Given the description of an element on the screen output the (x, y) to click on. 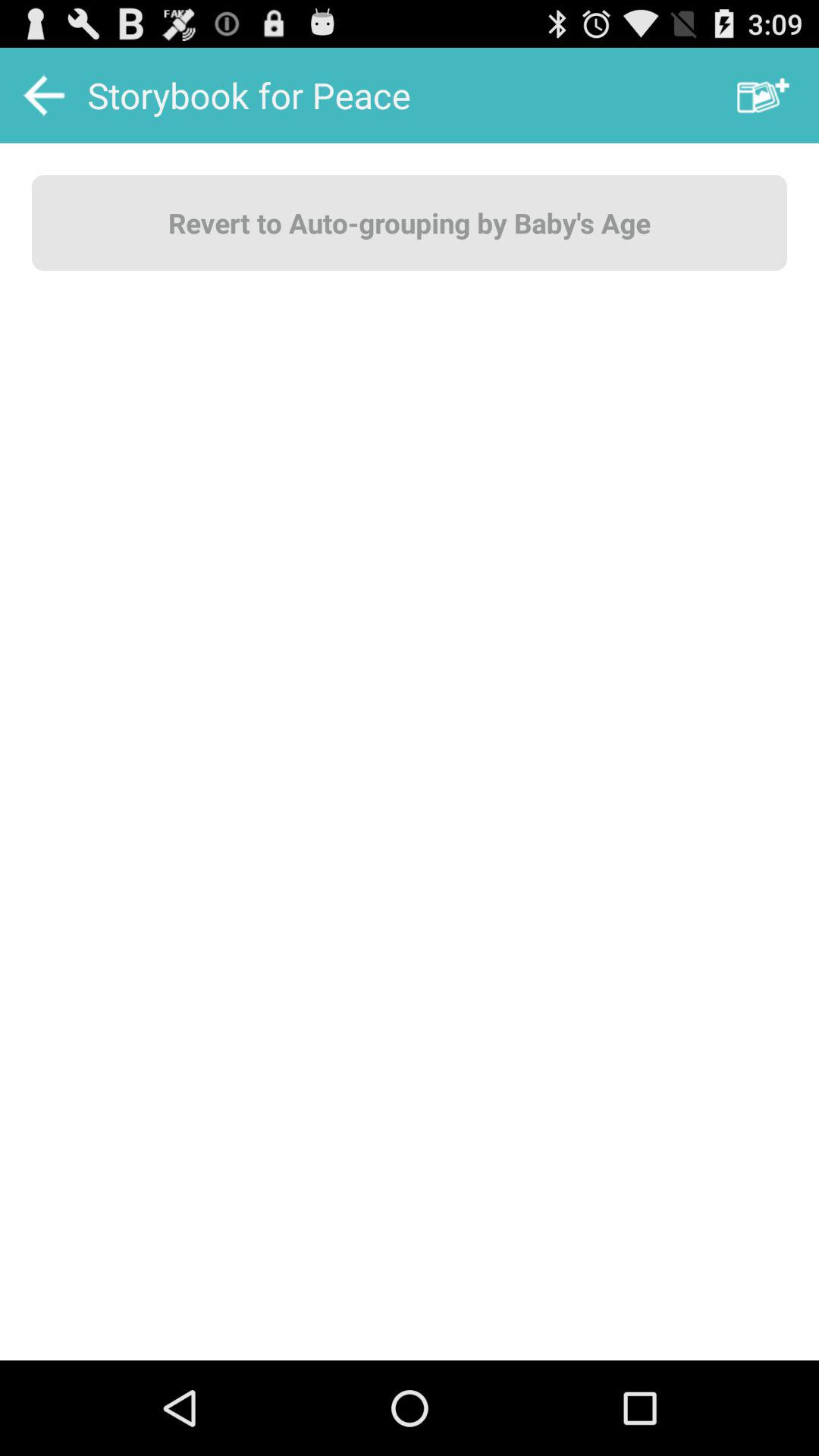
flip to the revert to auto button (409, 222)
